Given the description of an element on the screen output the (x, y) to click on. 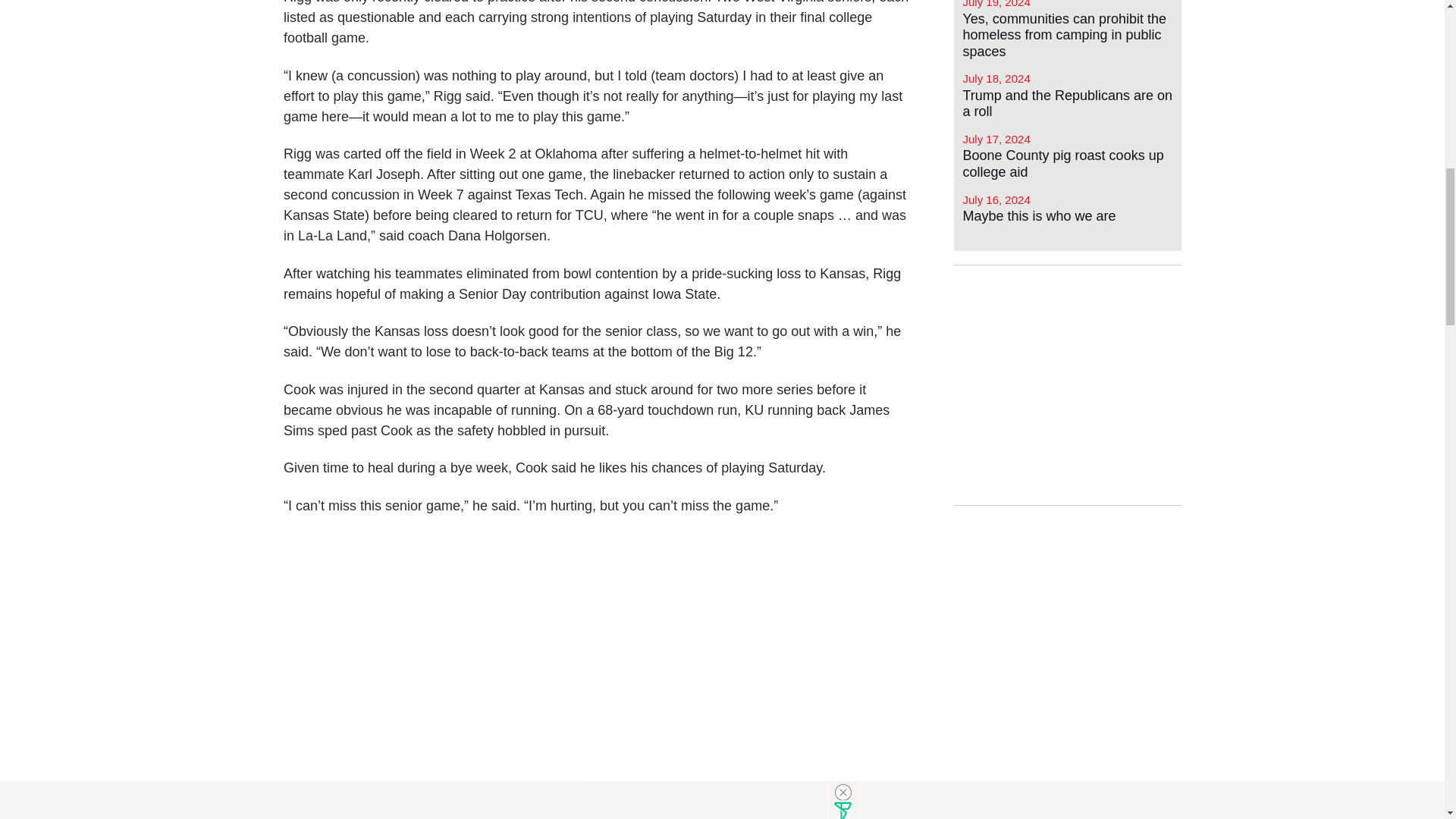
3rd party ad content (1066, 384)
